Given the description of an element on the screen output the (x, y) to click on. 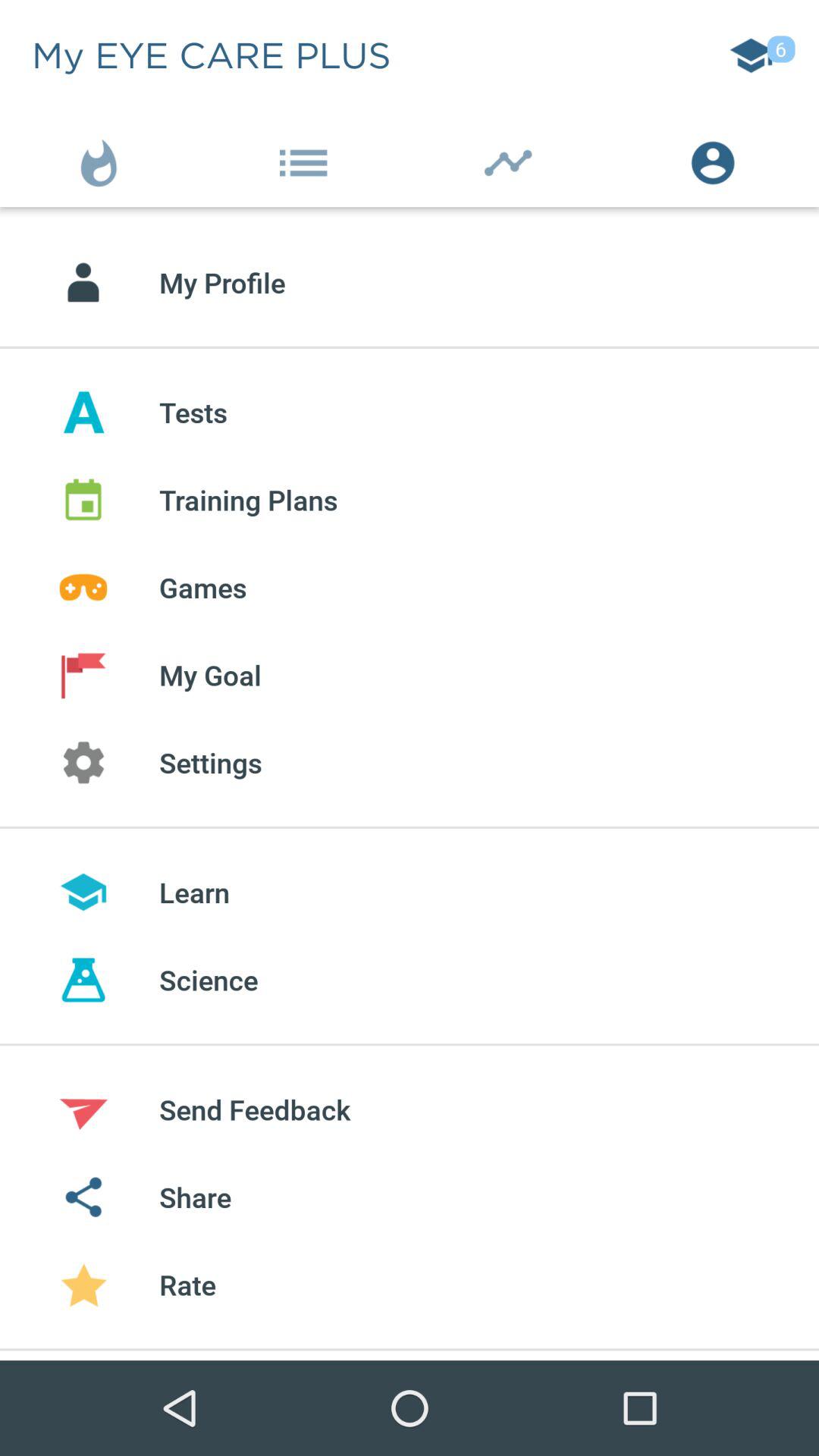
press the icon next to    icon (306, 159)
